Given the description of an element on the screen output the (x, y) to click on. 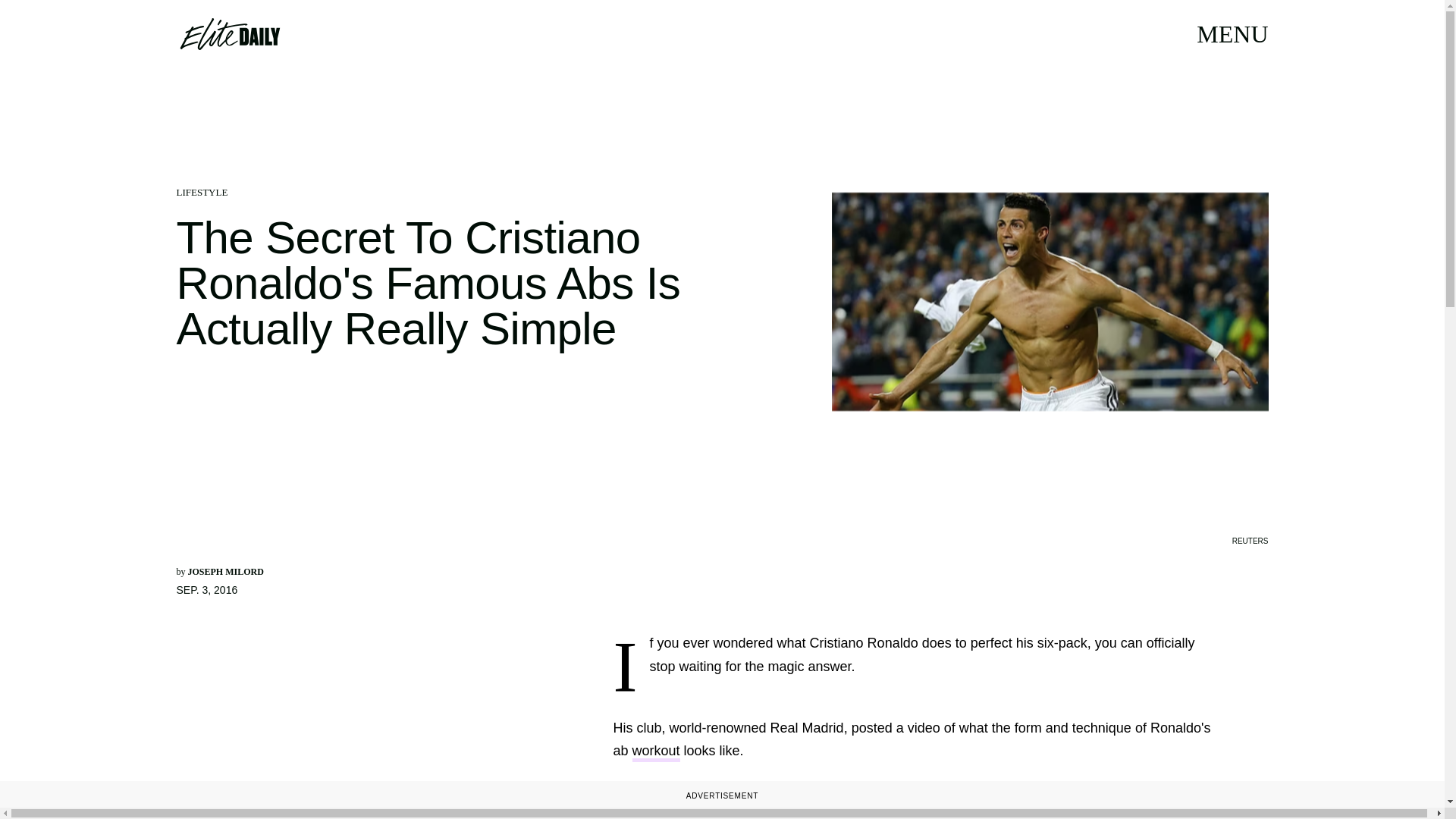
workout (655, 752)
Elite Daily (229, 33)
JOSEPH MILORD (225, 571)
